Given the description of an element on the screen output the (x, y) to click on. 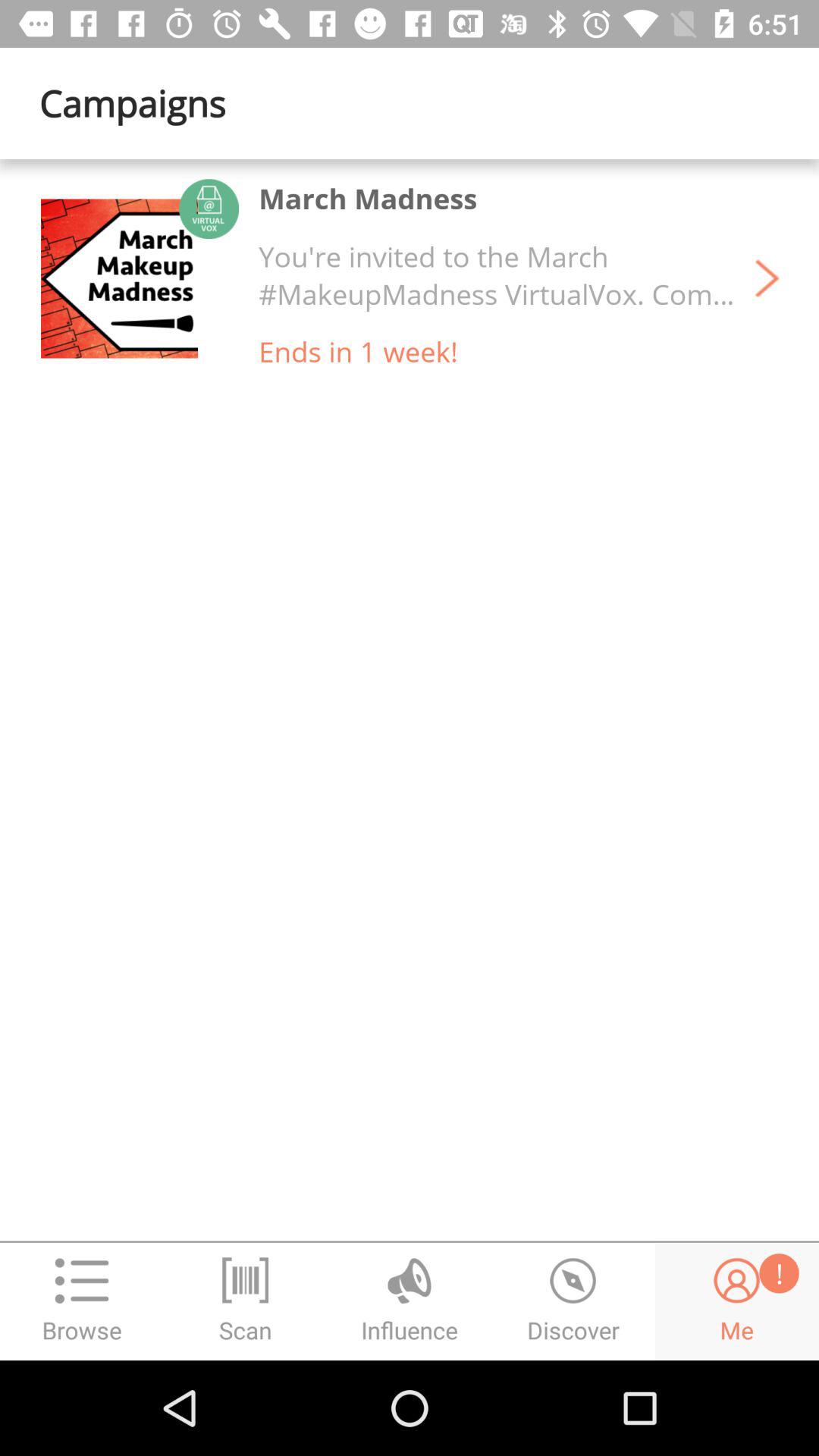
tap march madness icon (367, 198)
